Given the description of an element on the screen output the (x, y) to click on. 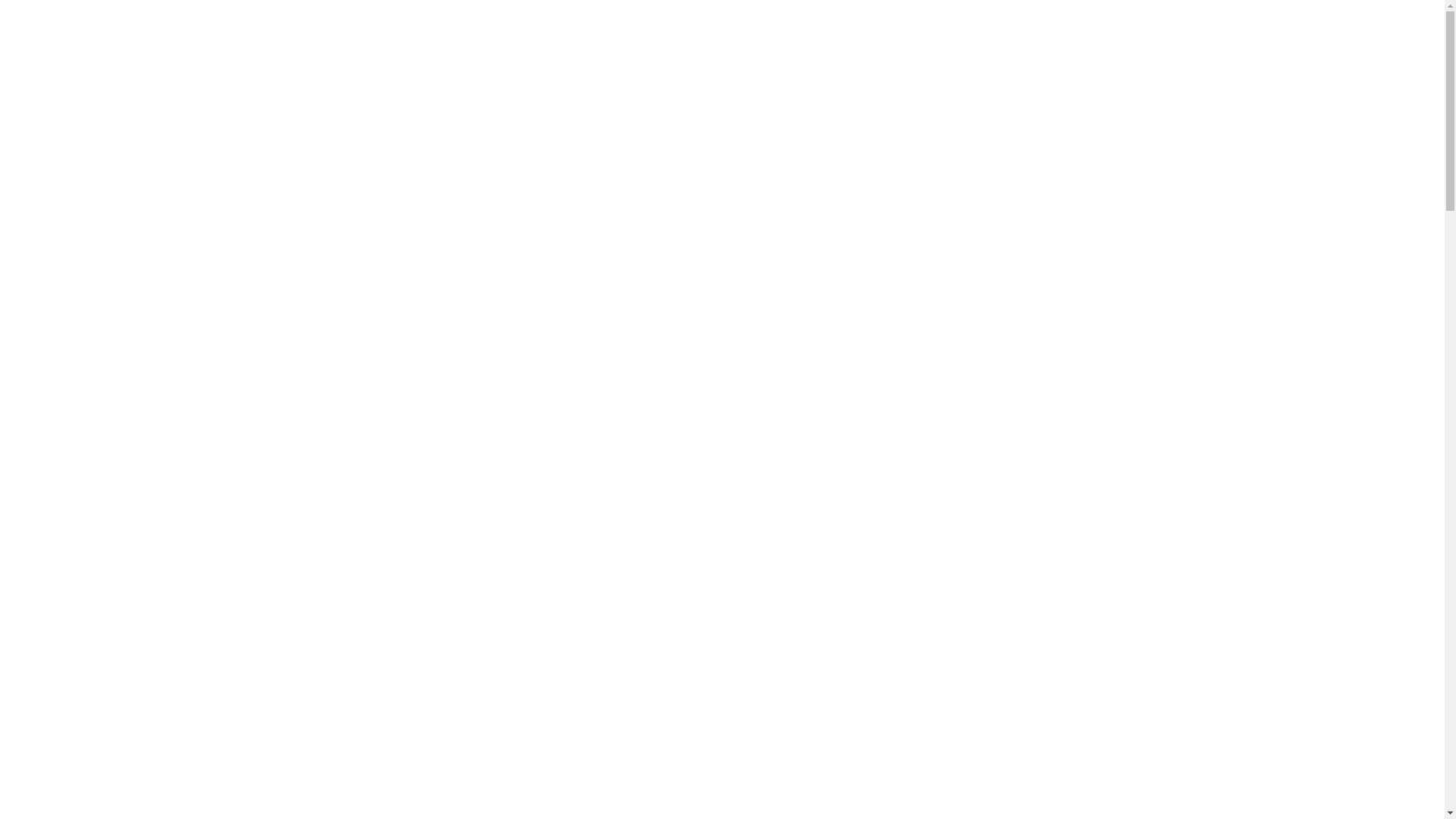
Immobilien Element type: text (1118, 45)
Generalunternehmer Element type: text (652, 45)
Architektur Element type: text (323, 45)
Baumanagement Element type: text (473, 45)
Projektentwicklung Element type: text (838, 45)
